Given the description of an element on the screen output the (x, y) to click on. 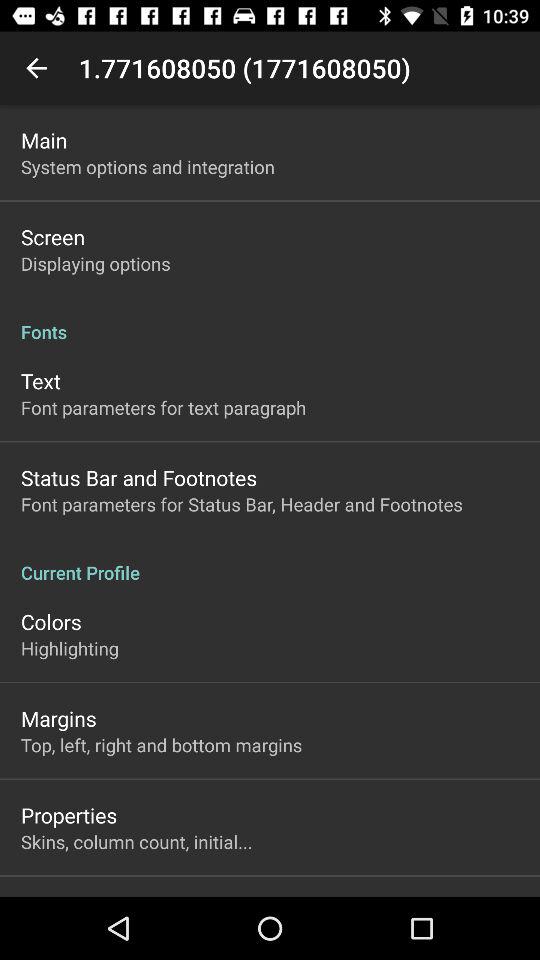
select colors (51, 621)
